Given the description of an element on the screen output the (x, y) to click on. 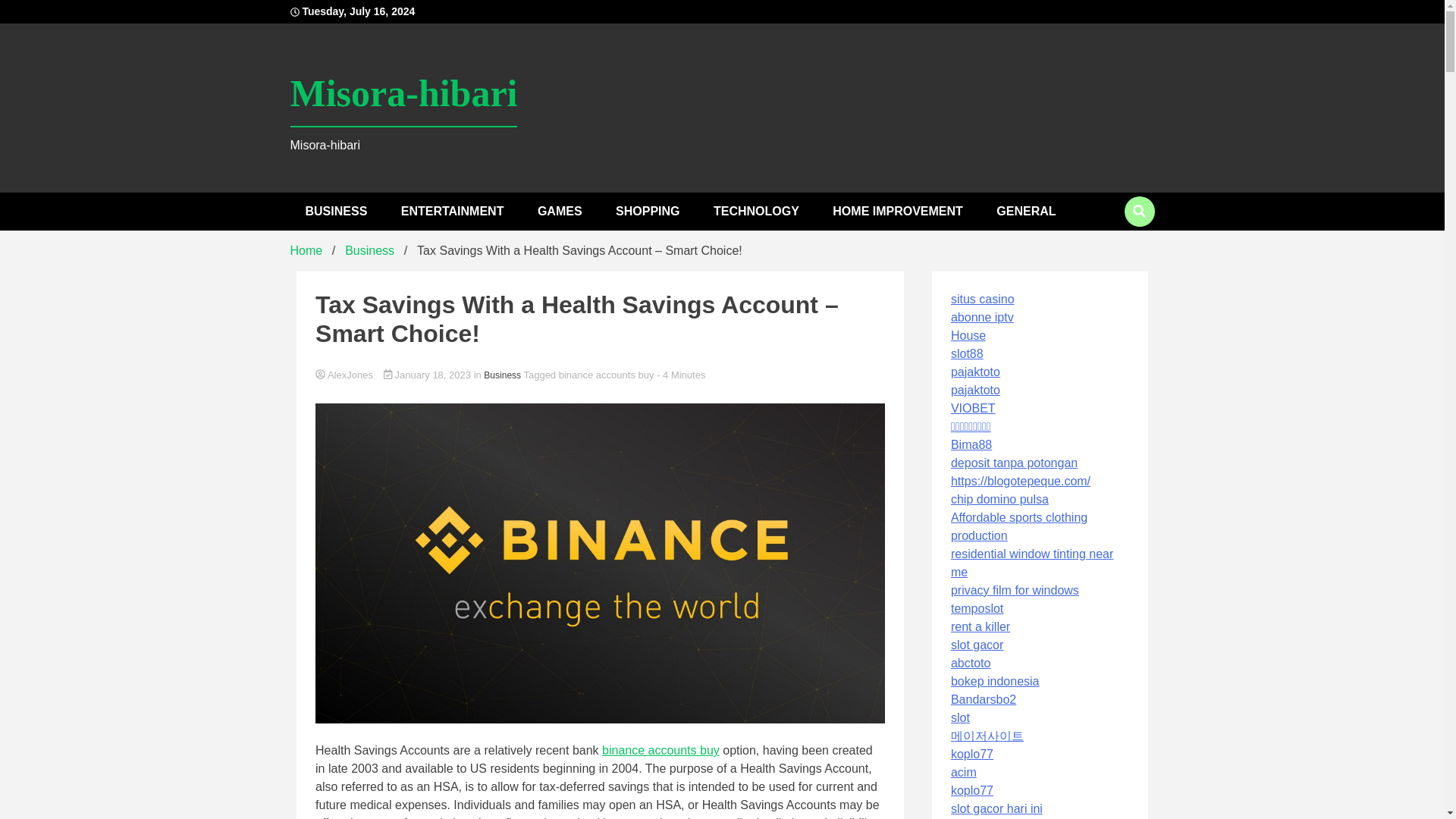
binance accounts buy (606, 374)
Business (502, 375)
Home (305, 250)
BUSINESS (335, 211)
binance accounts buy (660, 749)
slot88 (967, 353)
pajaktoto (975, 371)
GAMES (559, 211)
AlexJones (600, 375)
situs casino (982, 298)
House (967, 335)
abonne iptv (981, 317)
January 18, 2023 (429, 374)
GENERAL (1025, 211)
Misora-hibari (402, 94)
